Given the description of an element on the screen output the (x, y) to click on. 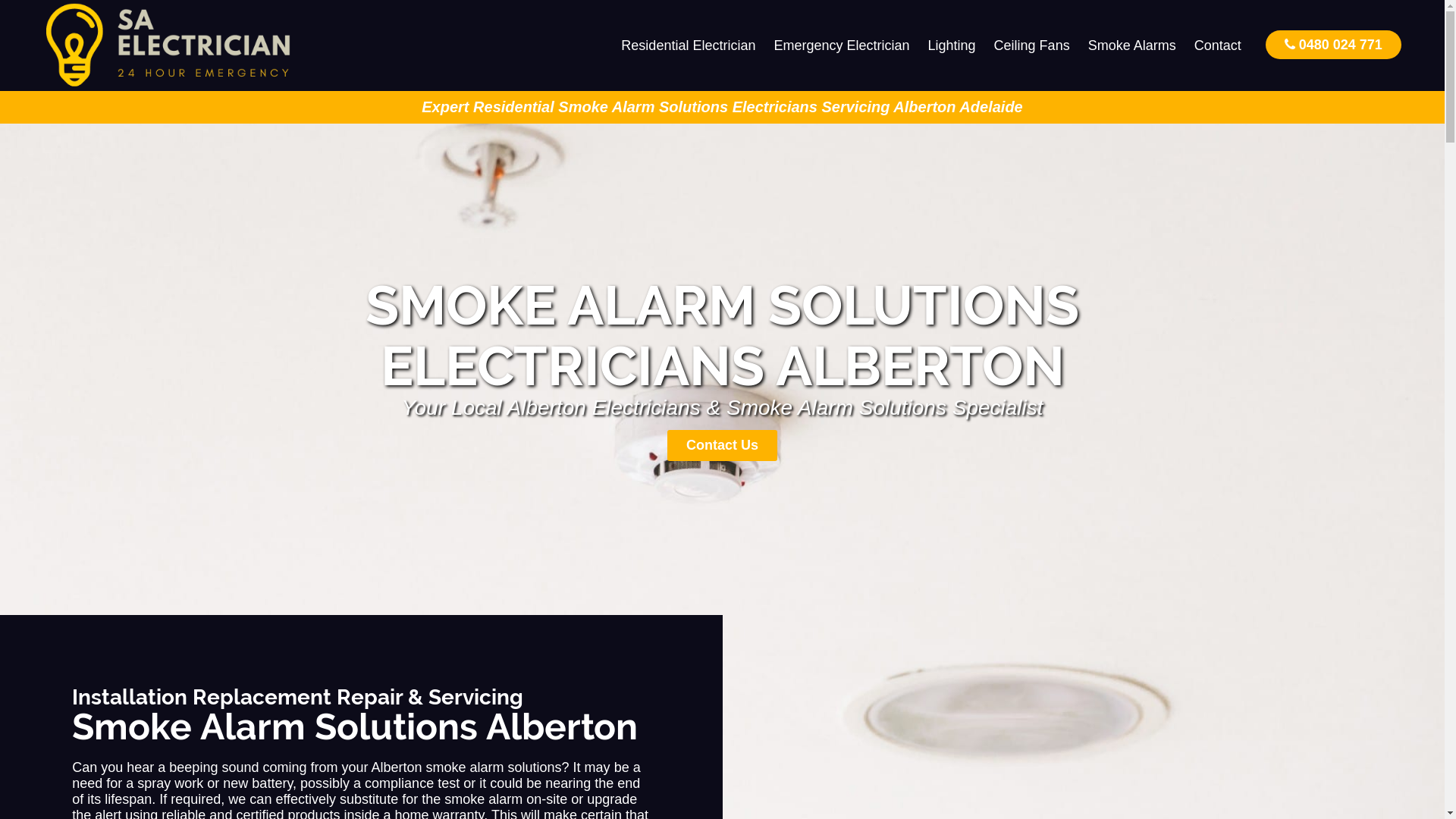
Lighting Element type: text (952, 45)
Contact Us Element type: text (722, 445)
Emergency Electrician Element type: text (841, 45)
Ceiling Fans Element type: text (1032, 45)
Residential Electrician Element type: text (687, 45)
Smoke Alarms Element type: text (1132, 45)
0480 024 771 Element type: text (1333, 44)
Contact Element type: text (1217, 45)
